Given the description of an element on the screen output the (x, y) to click on. 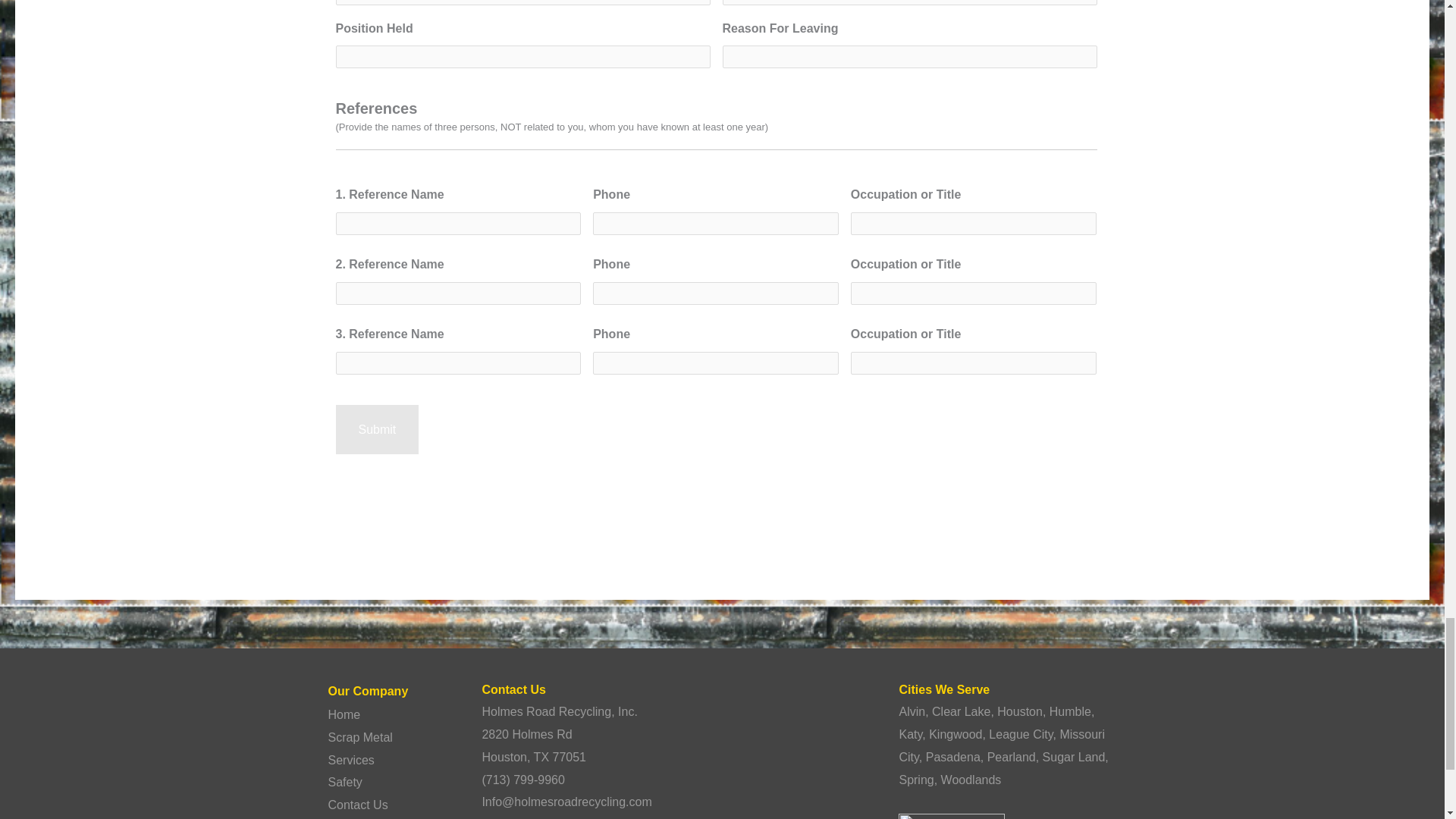
League City (1020, 734)
Services (350, 759)
Contact Us (357, 804)
Home (343, 714)
Submit (376, 429)
Kingwood (954, 734)
Humble (1069, 711)
Safety (344, 781)
Missouri City (1001, 745)
Clear Lake (960, 711)
Houston (1019, 711)
Scrap Metal (359, 737)
Katy (909, 734)
Alvin (911, 711)
